Given the description of an element on the screen output the (x, y) to click on. 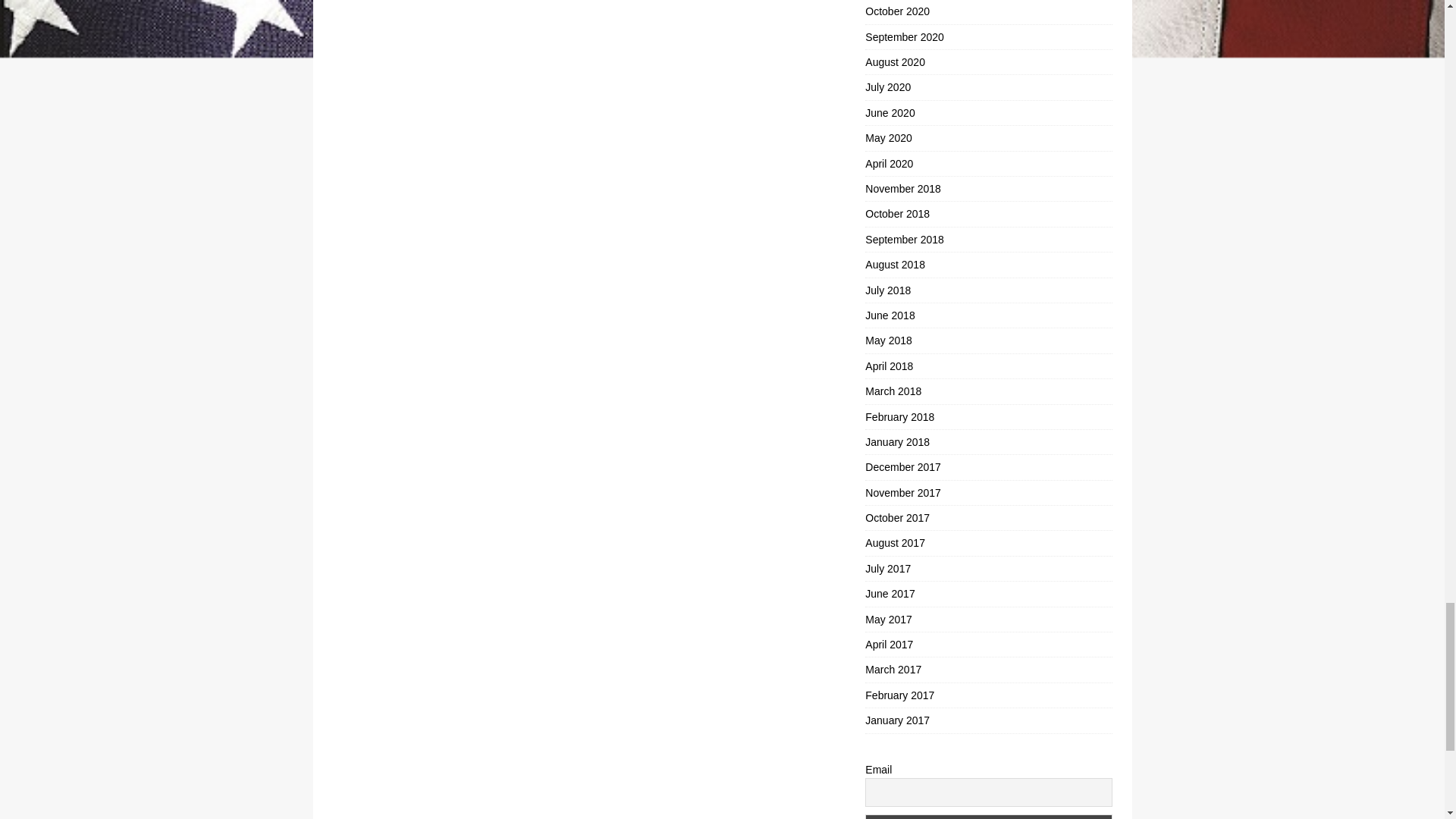
Subscribe (988, 816)
